Given the description of an element on the screen output the (x, y) to click on. 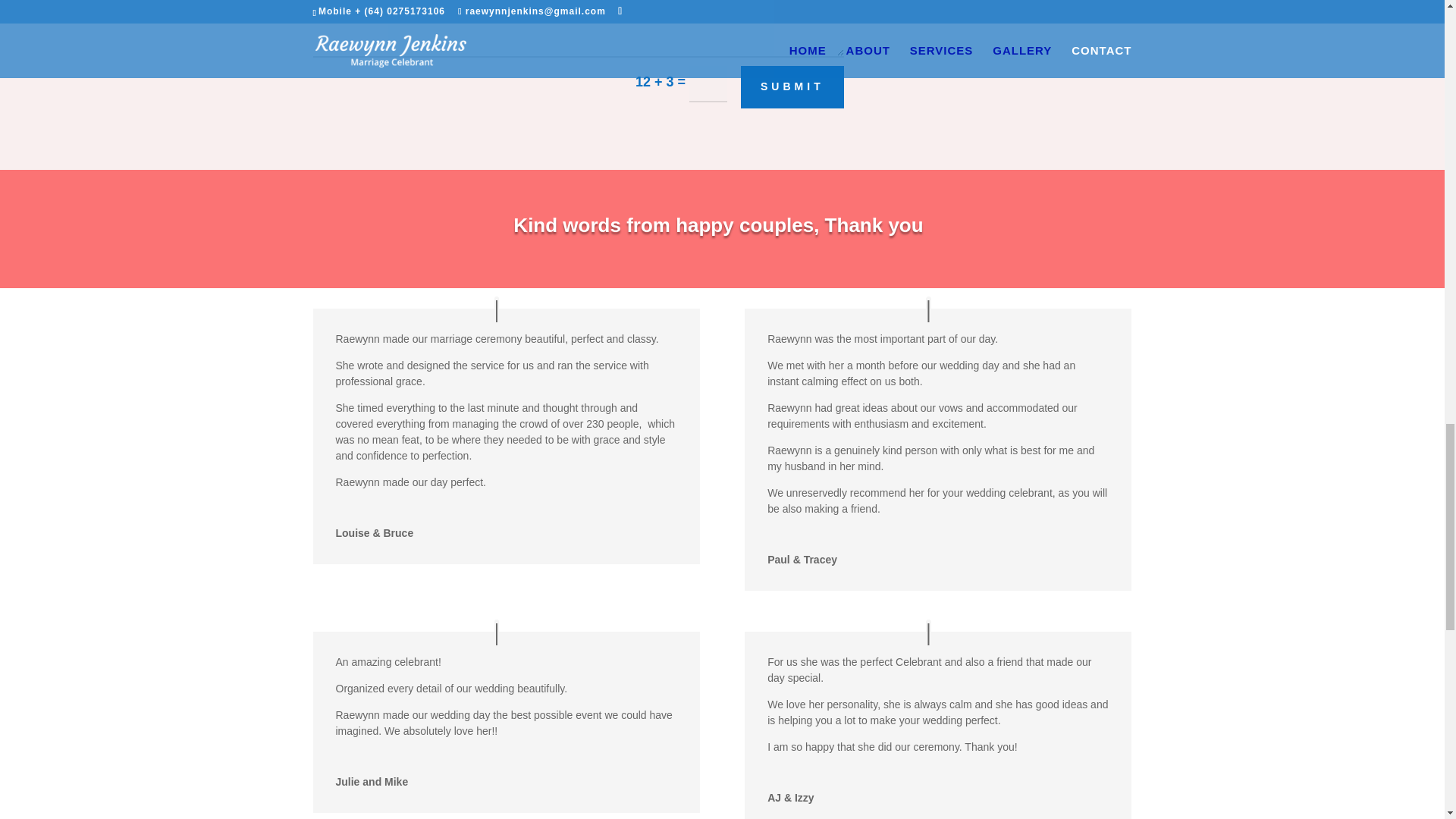
SUBMIT (792, 87)
